Given the description of an element on the screen output the (x, y) to click on. 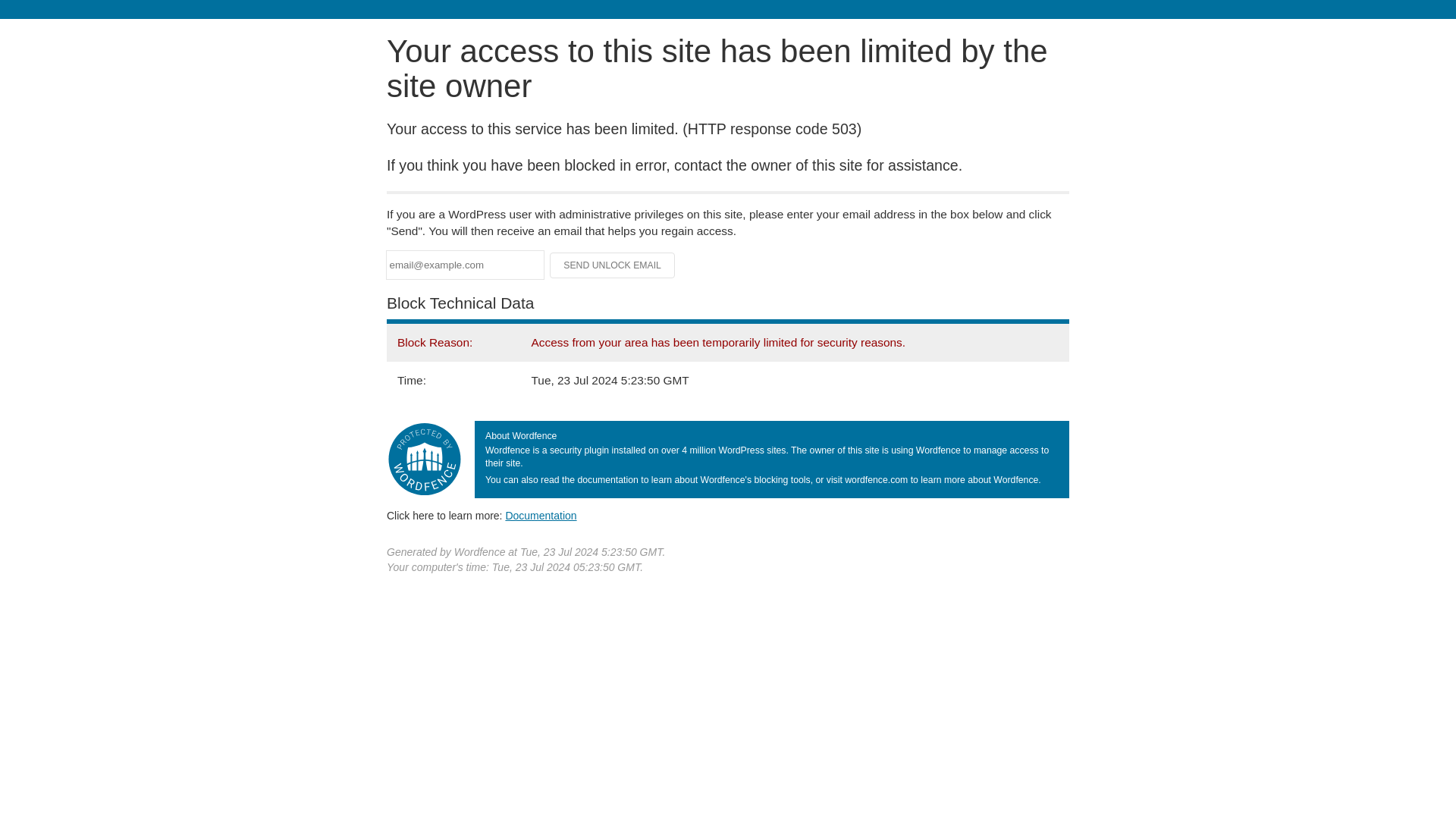
Send Unlock Email (612, 265)
Send Unlock Email (612, 265)
Documentation (540, 515)
